Given the description of an element on the screen output the (x, y) to click on. 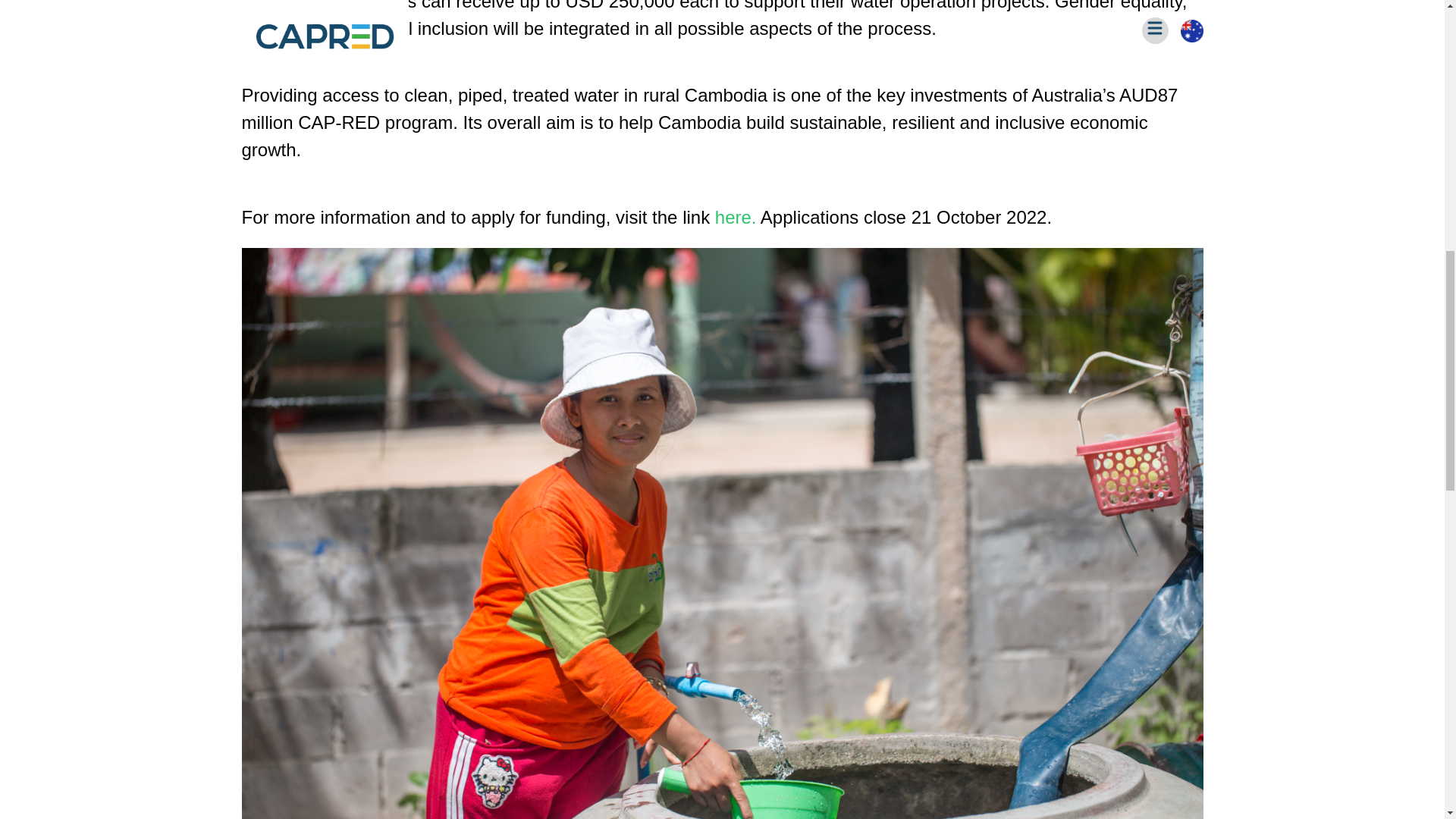
here.  (737, 216)
